Given the description of an element on the screen output the (x, y) to click on. 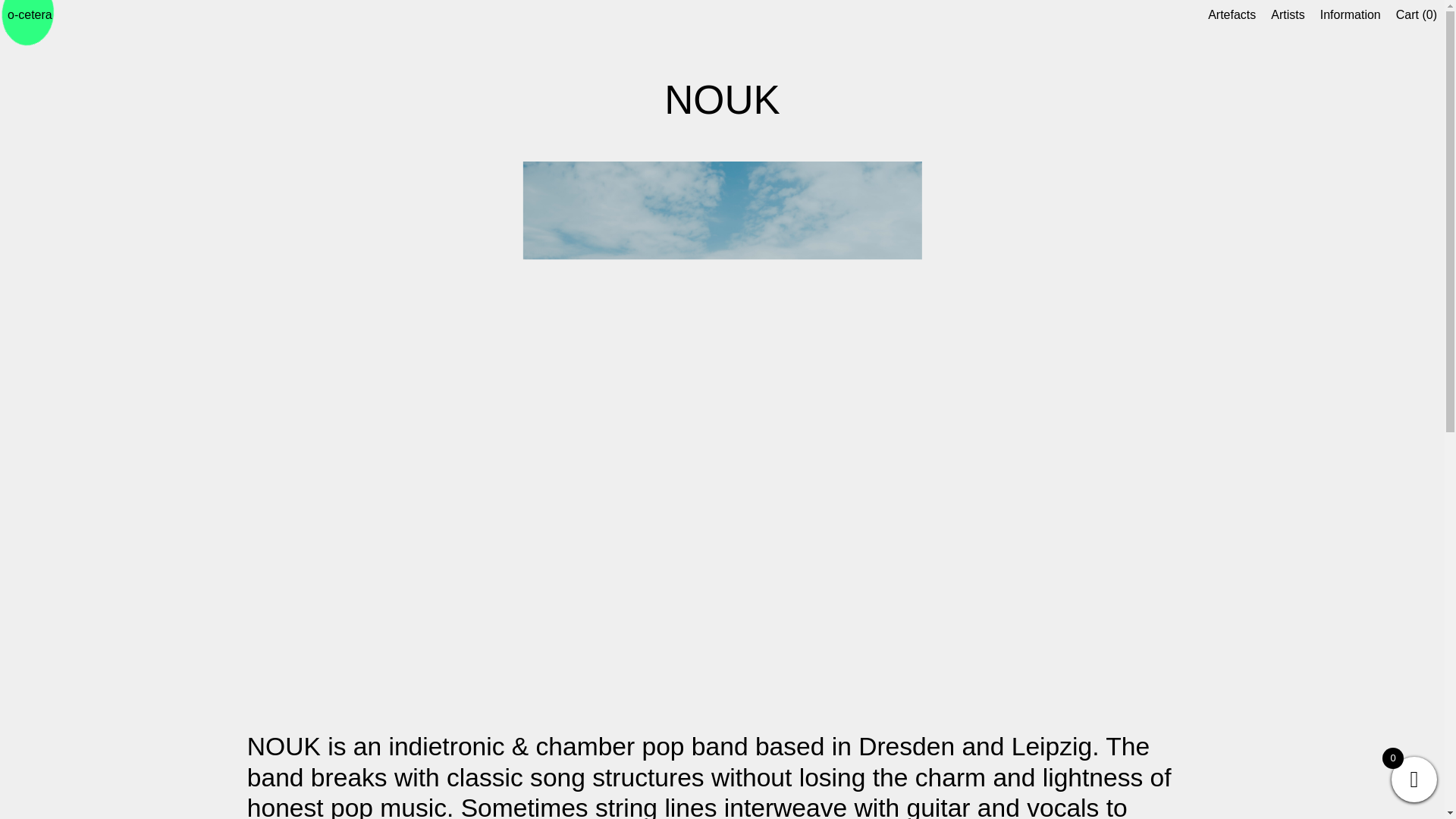
Artefacts (1231, 14)
o-cetera (29, 14)
Information (1350, 14)
Artists (1287, 14)
